Given the description of an element on the screen output the (x, y) to click on. 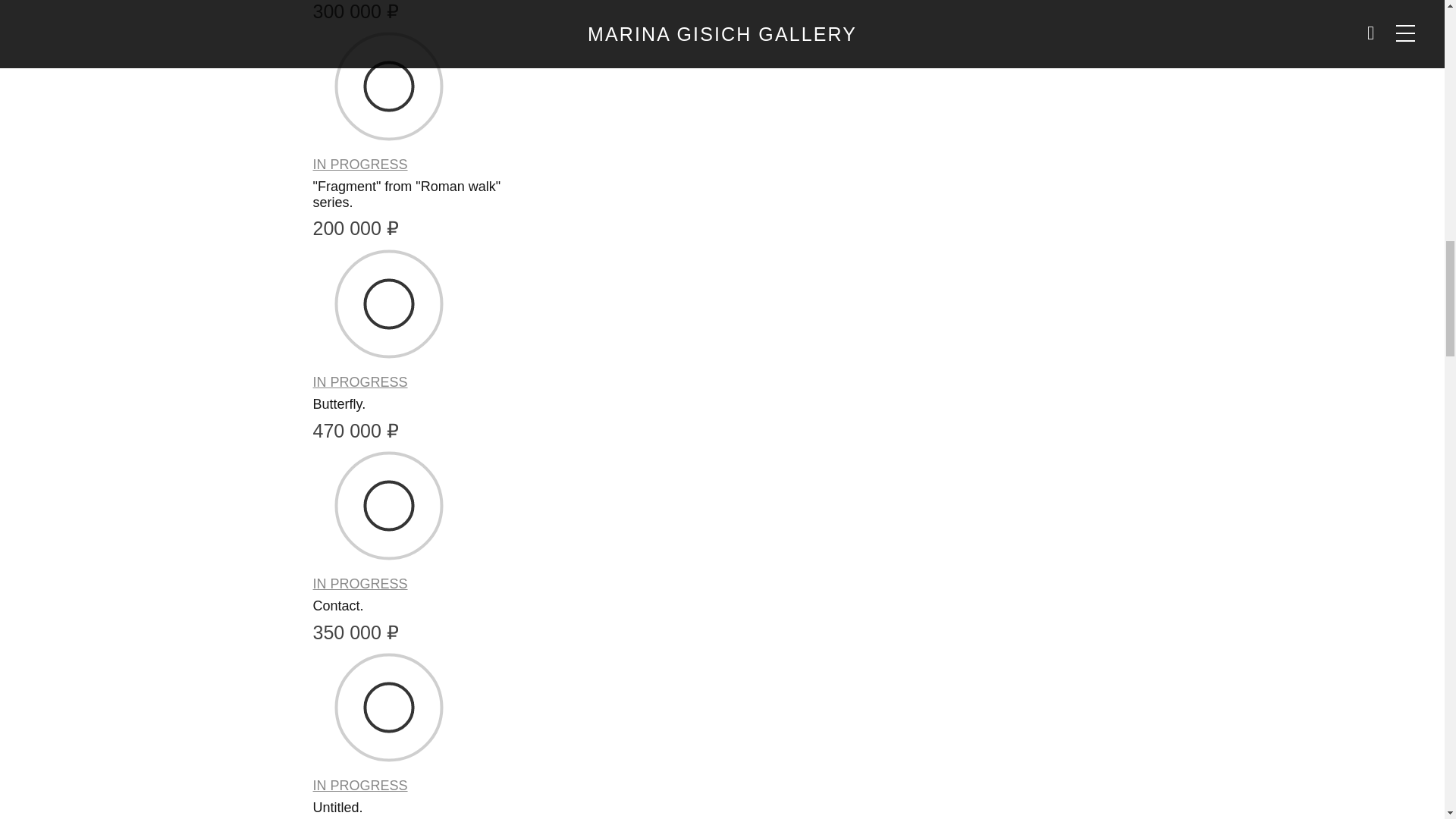
IN PROGRESS (360, 584)
IN PROGRESS (360, 785)
IN PROGRESS (360, 382)
IN PROGRESS (360, 164)
